Given the description of an element on the screen output the (x, y) to click on. 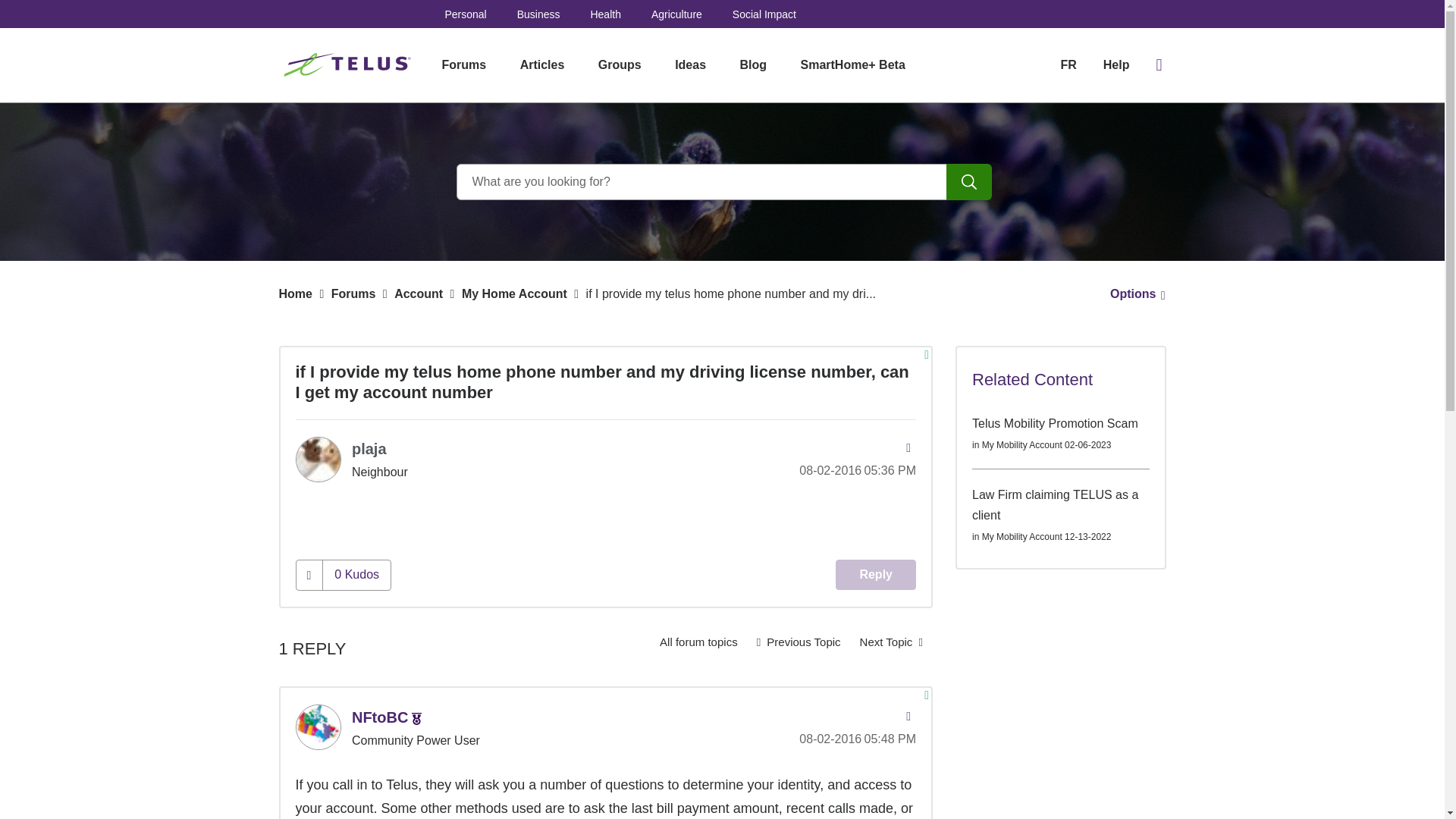
Search (968, 181)
plaja (317, 459)
moving to a non-Telus building this Sunday (891, 642)
My Home Account (698, 642)
Forums (353, 293)
Ideas (689, 64)
Help (1116, 64)
Search (722, 181)
Free tv gift (798, 642)
Articles (542, 64)
Agriculture (675, 14)
Groups (619, 64)
Social Impact (764, 14)
Forums (463, 64)
Click here to give kudos to this post. (309, 574)
